Given the description of an element on the screen output the (x, y) to click on. 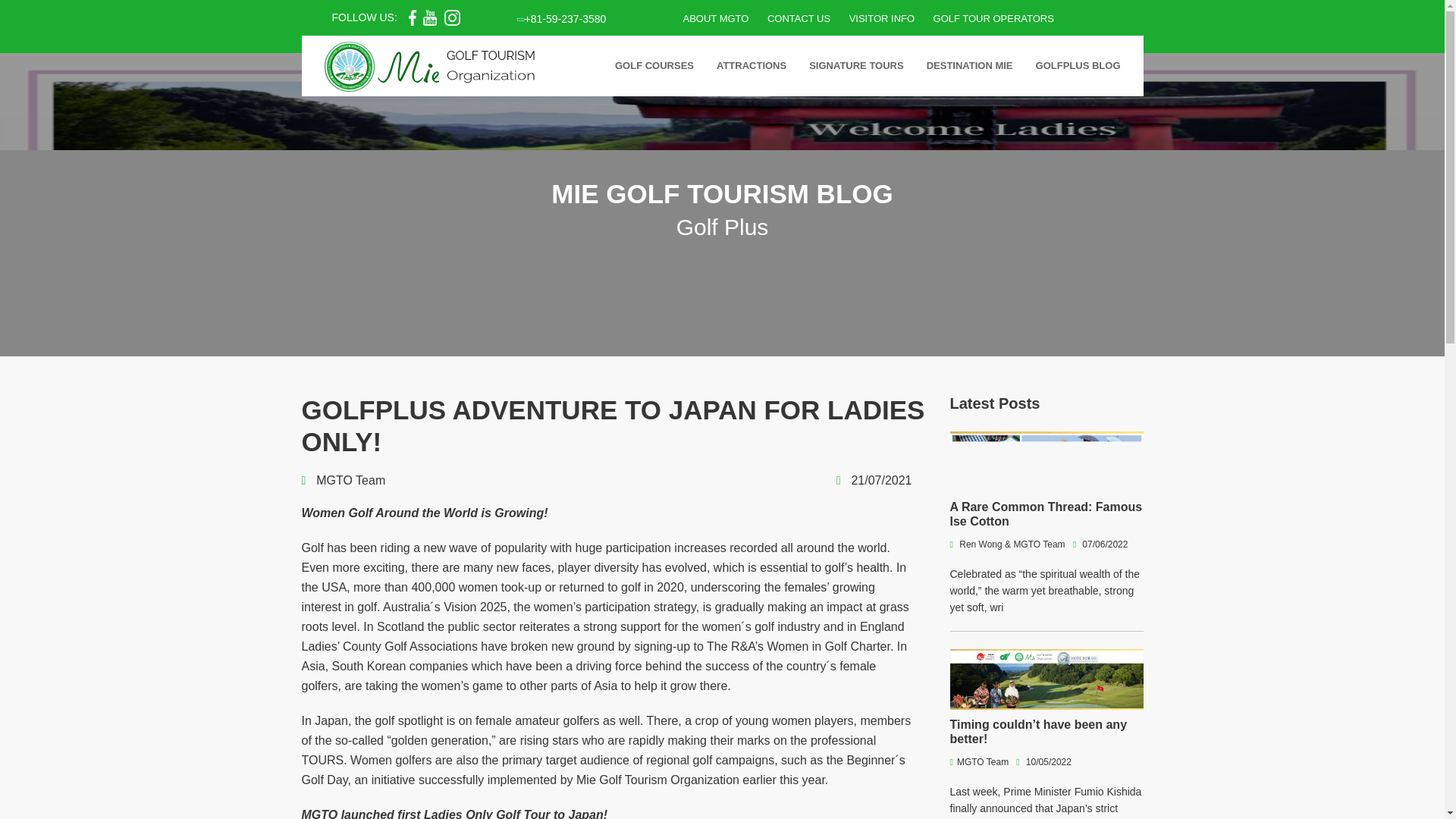
SIGNATURE TOURS (855, 66)
DESTINATION MIE (970, 66)
GOLF TOUR OPERATORS (993, 18)
CONTACT US (798, 18)
A Rare Common Thread: Famous Ise Cotton (1045, 513)
A Rare Common Thread: Famous Ise Cotton (1045, 513)
GOLFPLUS BLOG (1078, 66)
ATTRACTIONS (750, 66)
ABOUT MGTO (715, 18)
VISITOR INFO (881, 18)
